Given the description of an element on the screen output the (x, y) to click on. 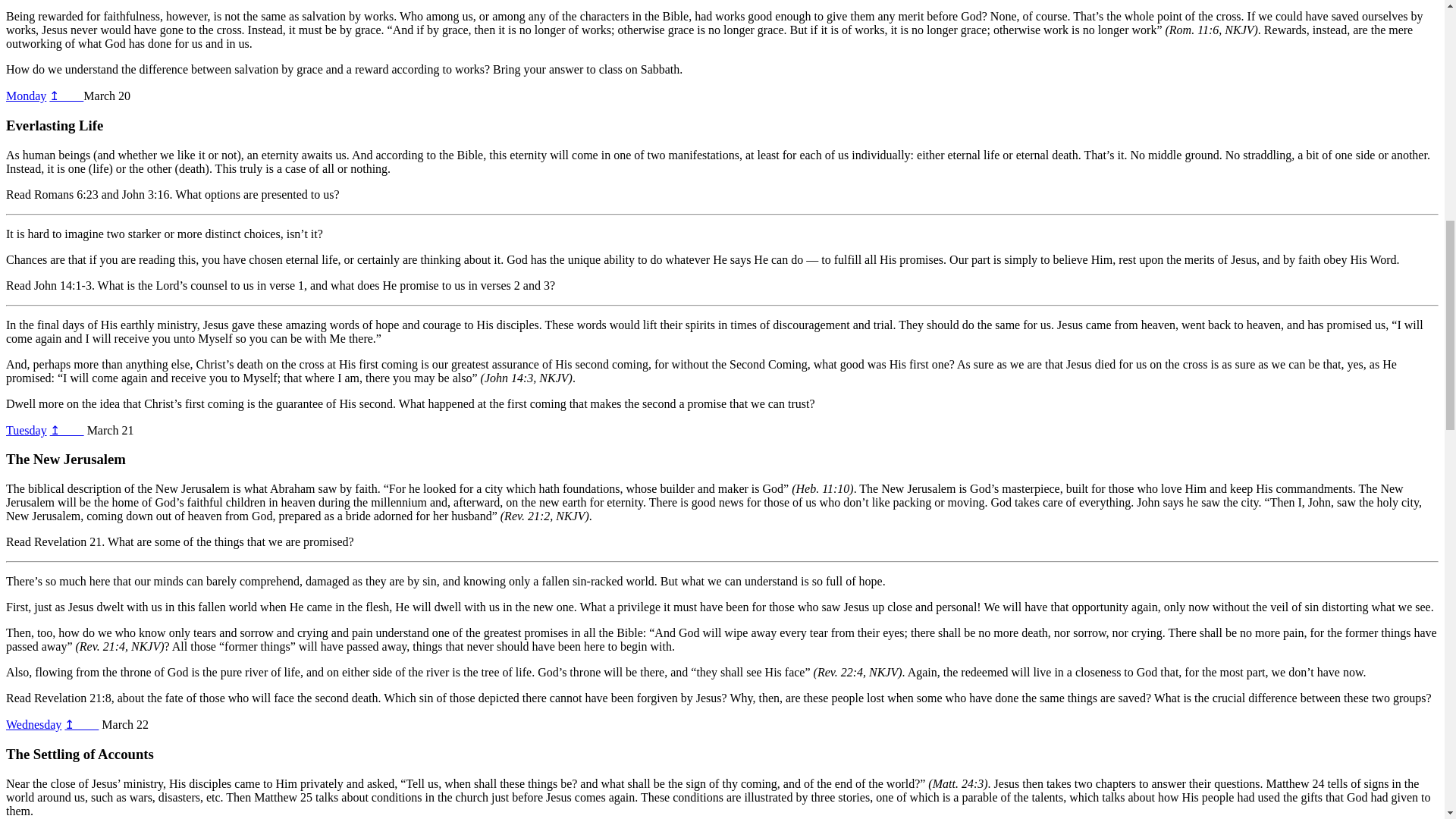
Align Upwards (33, 724)
Wednesday (33, 724)
Go to top of the page (81, 724)
Tuesday (25, 430)
Go to top of the page (65, 95)
Monday (25, 95)
Align Upwards (25, 95)
Align Upwards (25, 430)
Go to top of the page (66, 430)
